Given the description of an element on the screen output the (x, y) to click on. 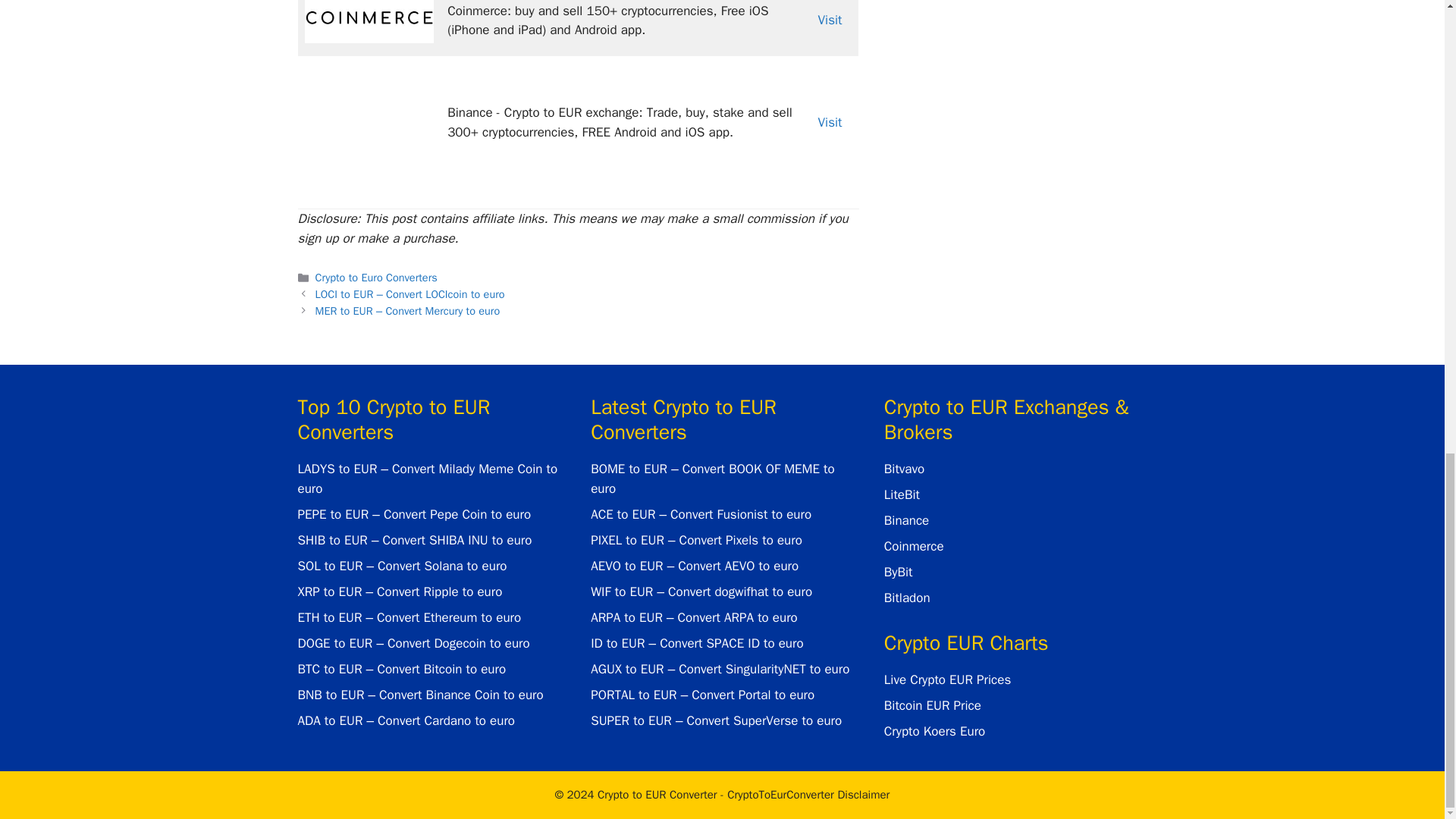
MDA to EUR - Convert Moeda Loyalty Points to euro (368, 119)
Crypto to Euro Converters (376, 277)
Visit (830, 19)
MDA to EUR - Convert Moeda Loyalty Points to euro (368, 21)
Visit (830, 122)
Disclaimer (807, 794)
